Given the description of an element on the screen output the (x, y) to click on. 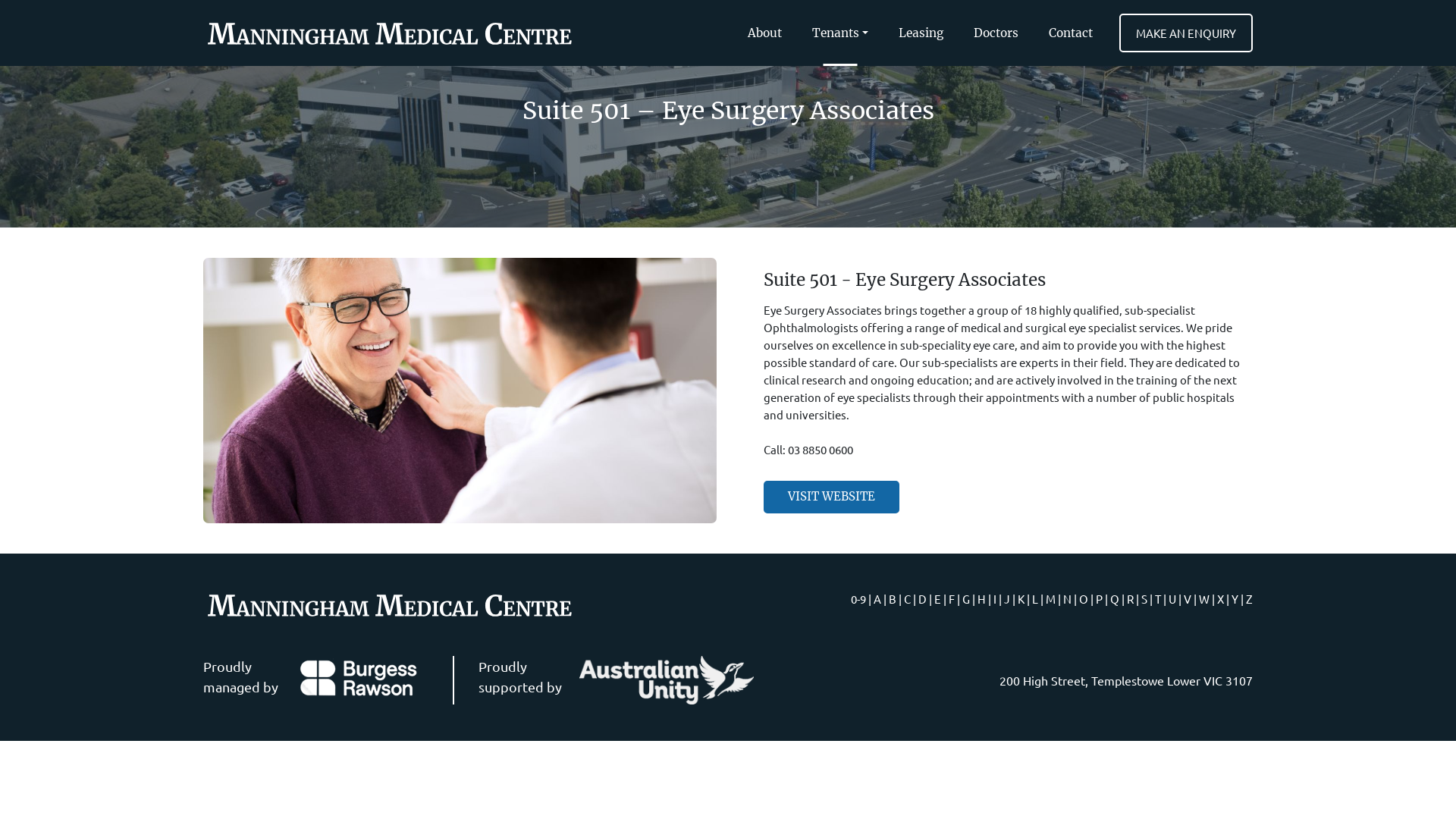
O Element type: text (1083, 598)
N Element type: text (1067, 598)
I Element type: text (994, 598)
R Element type: text (1129, 598)
Y Element type: text (1234, 598)
H Element type: text (981, 598)
MAKE AN ENQUIRY Element type: text (1185, 32)
U Element type: text (1172, 598)
E Element type: text (937, 598)
F Element type: text (951, 598)
L Element type: text (1035, 598)
X Element type: text (1220, 598)
D Element type: text (922, 598)
Doctors Element type: text (995, 32)
A Element type: text (877, 598)
M Element type: text (1050, 598)
Contact Element type: text (1070, 32)
About Element type: text (764, 32)
K Element type: text (1020, 598)
VISIT WEBSITE Element type: text (831, 496)
B Element type: text (892, 598)
V Element type: text (1187, 598)
Q Element type: text (1114, 598)
S Element type: text (1144, 598)
J Element type: text (1007, 598)
C Element type: text (906, 598)
Tenants Element type: text (840, 32)
P Element type: text (1098, 598)
Z Element type: text (1248, 598)
Leasing Element type: text (920, 32)
0-9 Element type: text (858, 598)
T Element type: text (1157, 598)
G Element type: text (965, 598)
W Element type: text (1203, 598)
